Given the description of an element on the screen output the (x, y) to click on. 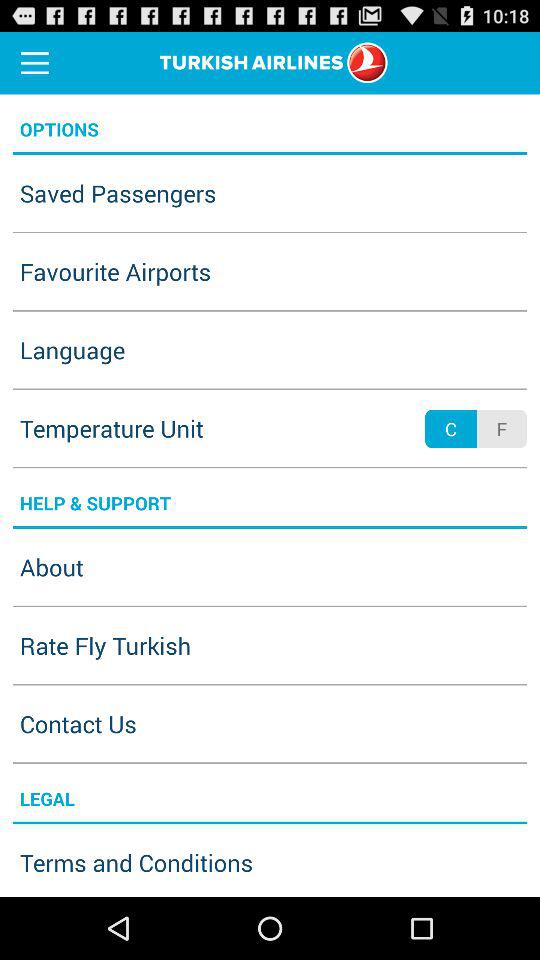
show menu (35, 62)
